Given the description of an element on the screen output the (x, y) to click on. 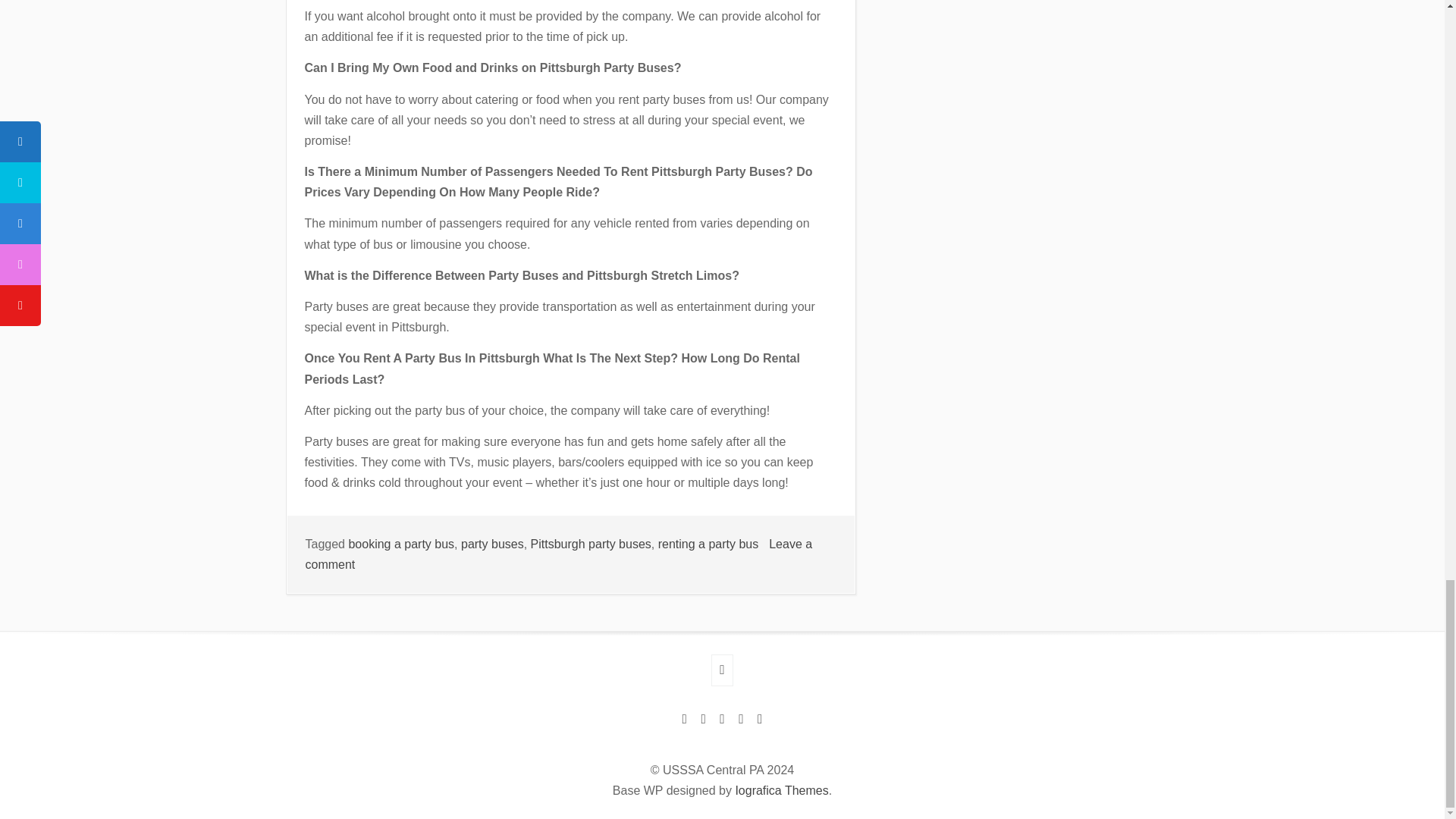
Pittsburgh party buses (558, 553)
party buses (590, 543)
renting a party bus (492, 543)
booking a party bus (708, 543)
